Given the description of an element on the screen output the (x, y) to click on. 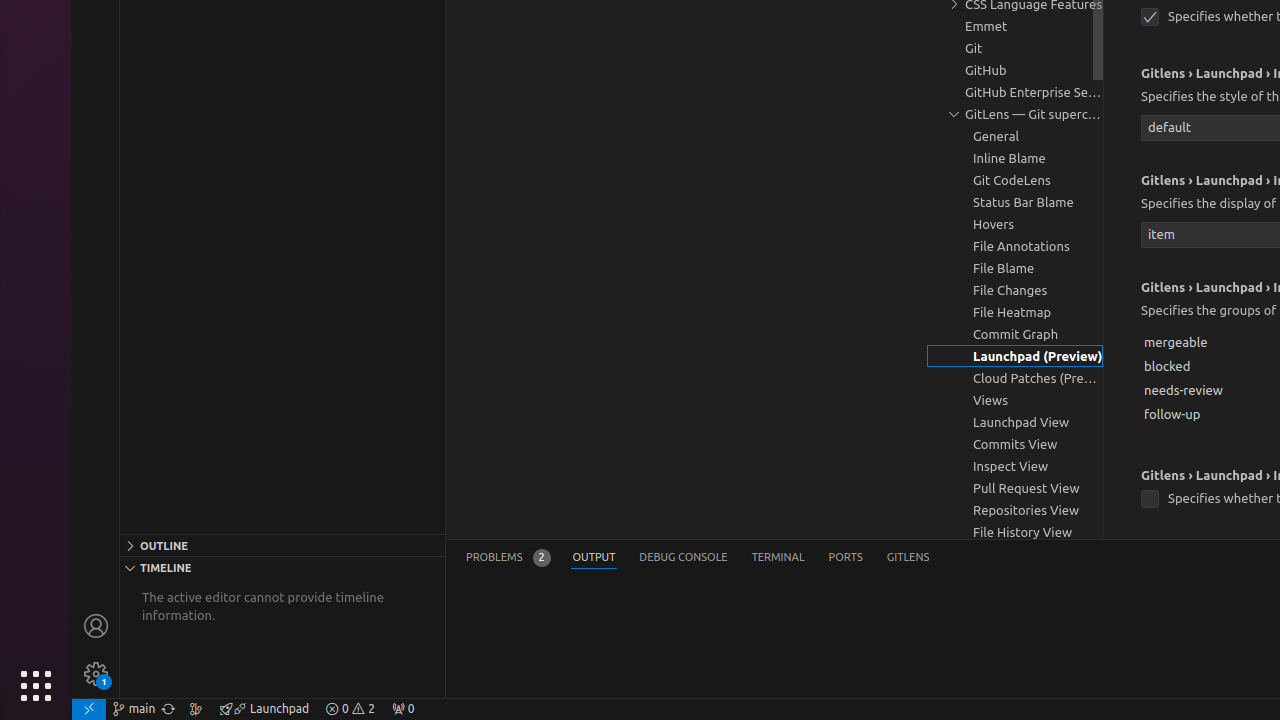
No Ports Forwarded Element type: push-button (403, 709)
GitHub, group Element type: tree-item (1015, 70)
File History View, group Element type: tree-item (1015, 532)
Status Bar Blame, group Element type: tree-item (1015, 202)
GitLens — Git supercharged, group Element type: tree-item (1015, 114)
